Given the description of an element on the screen output the (x, y) to click on. 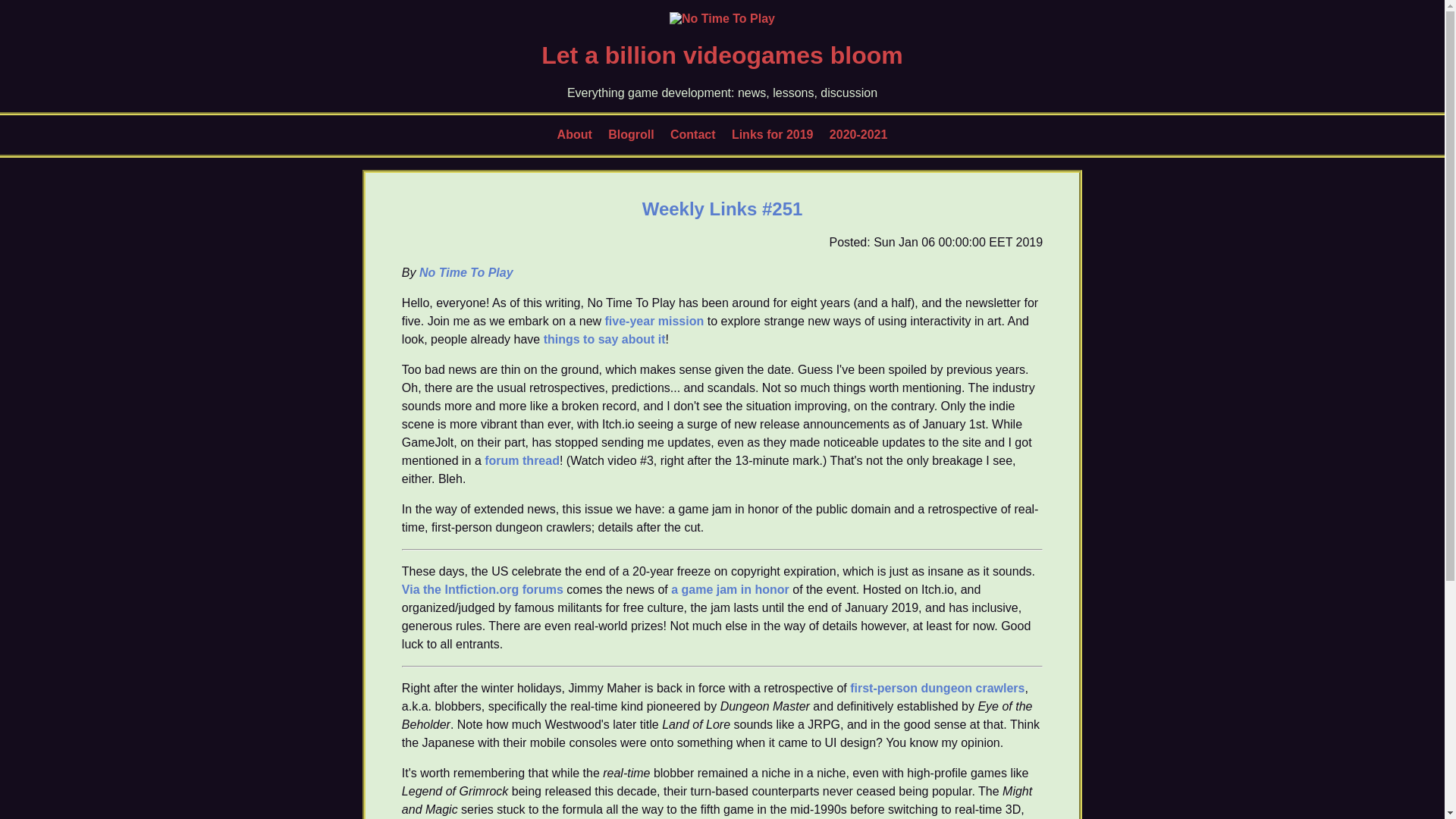
2020-2021 (858, 133)
things to say about it (604, 338)
Contact (692, 133)
a game jam in honor (730, 588)
Via the Intfiction.org forums (482, 588)
About (574, 133)
Blogroll (630, 133)
Links for 2019 (772, 133)
forum thread (521, 459)
Let a billion videogames bloom (721, 18)
five-year mission (654, 319)
Let a billion videogames bloom (721, 54)
No Time To Play (466, 271)
first-person dungeon crawlers (937, 686)
